Given the description of an element on the screen output the (x, y) to click on. 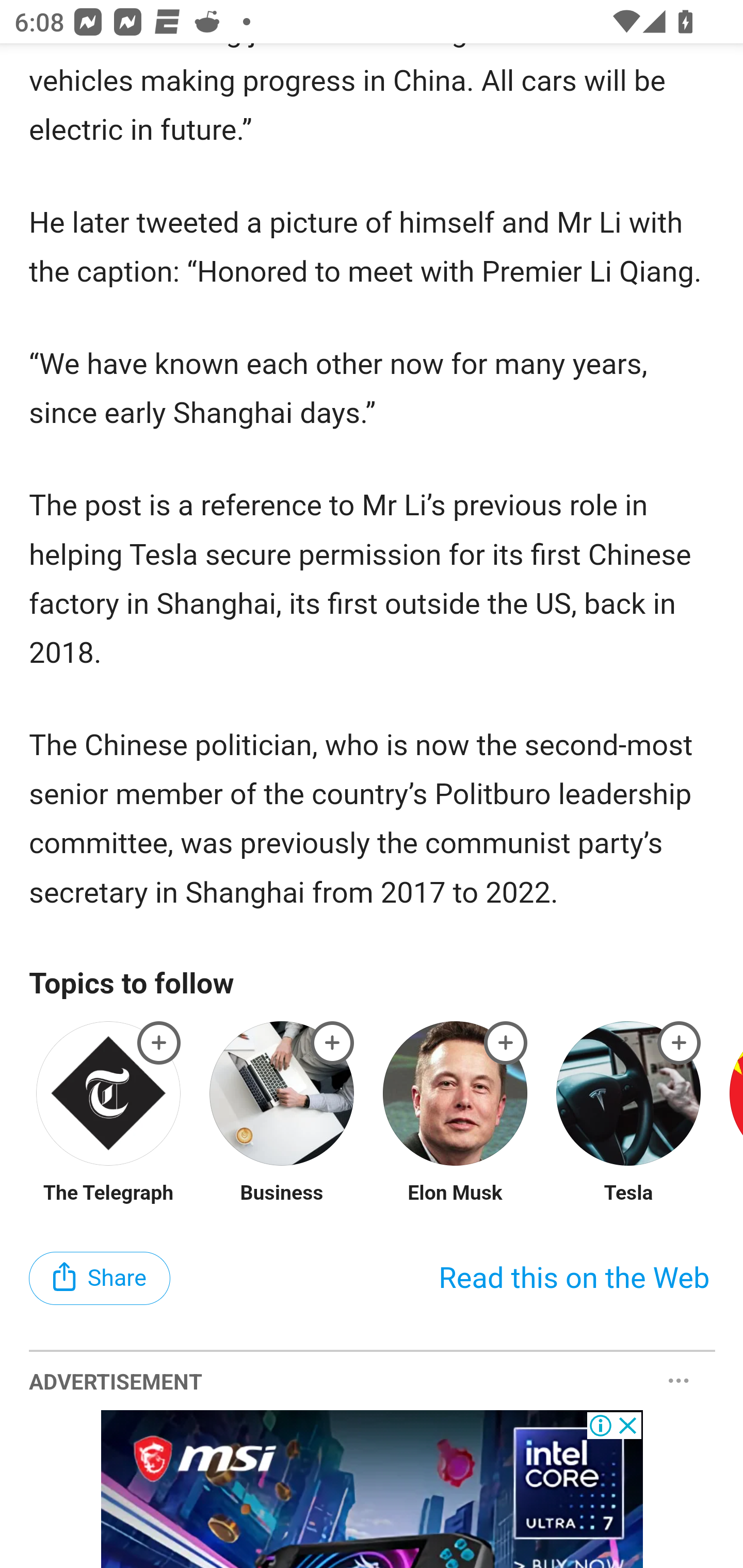
The Telegraph (107, 1194)
Business (281, 1194)
Elon Musk (454, 1194)
Tesla (628, 1194)
Read this on the Web (573, 1280)
Share (99, 1279)
